Given the description of an element on the screen output the (x, y) to click on. 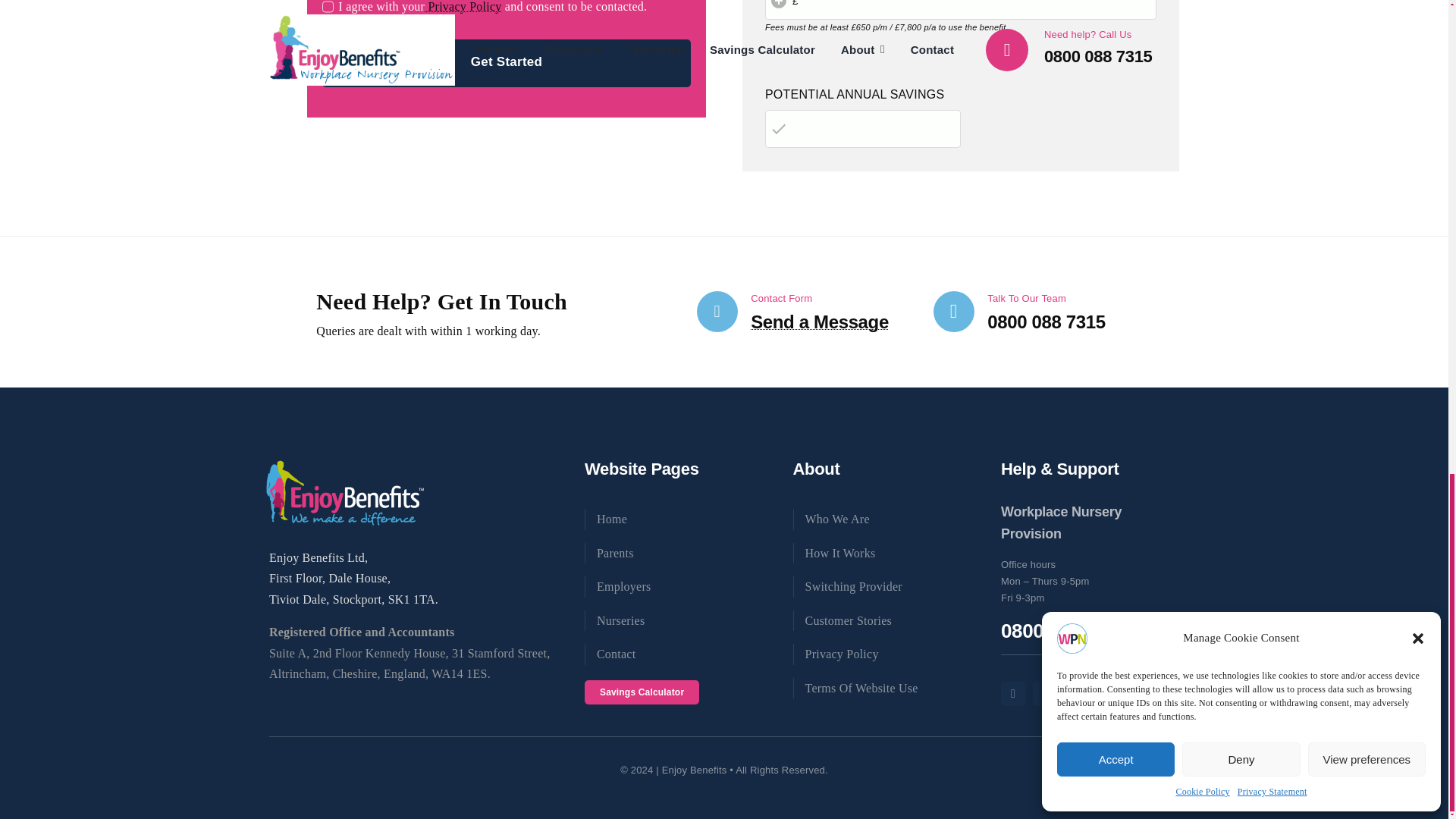
Get Started (505, 62)
Privacy Policy (462, 6)
Send a Message (819, 322)
